Given the description of an element on the screen output the (x, y) to click on. 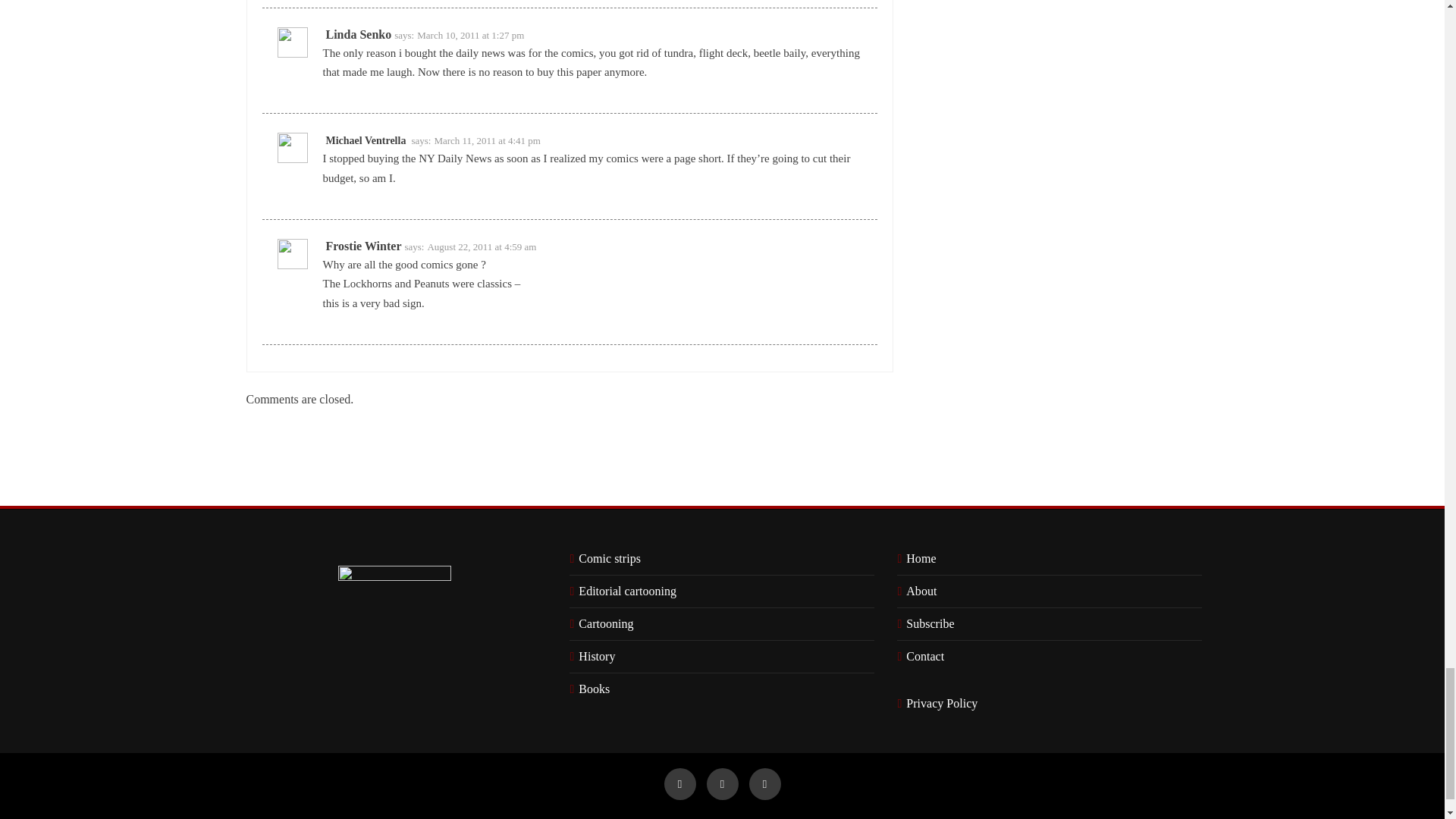
Subscribe to The Daily Cartoonist (927, 623)
